Given the description of an element on the screen output the (x, y) to click on. 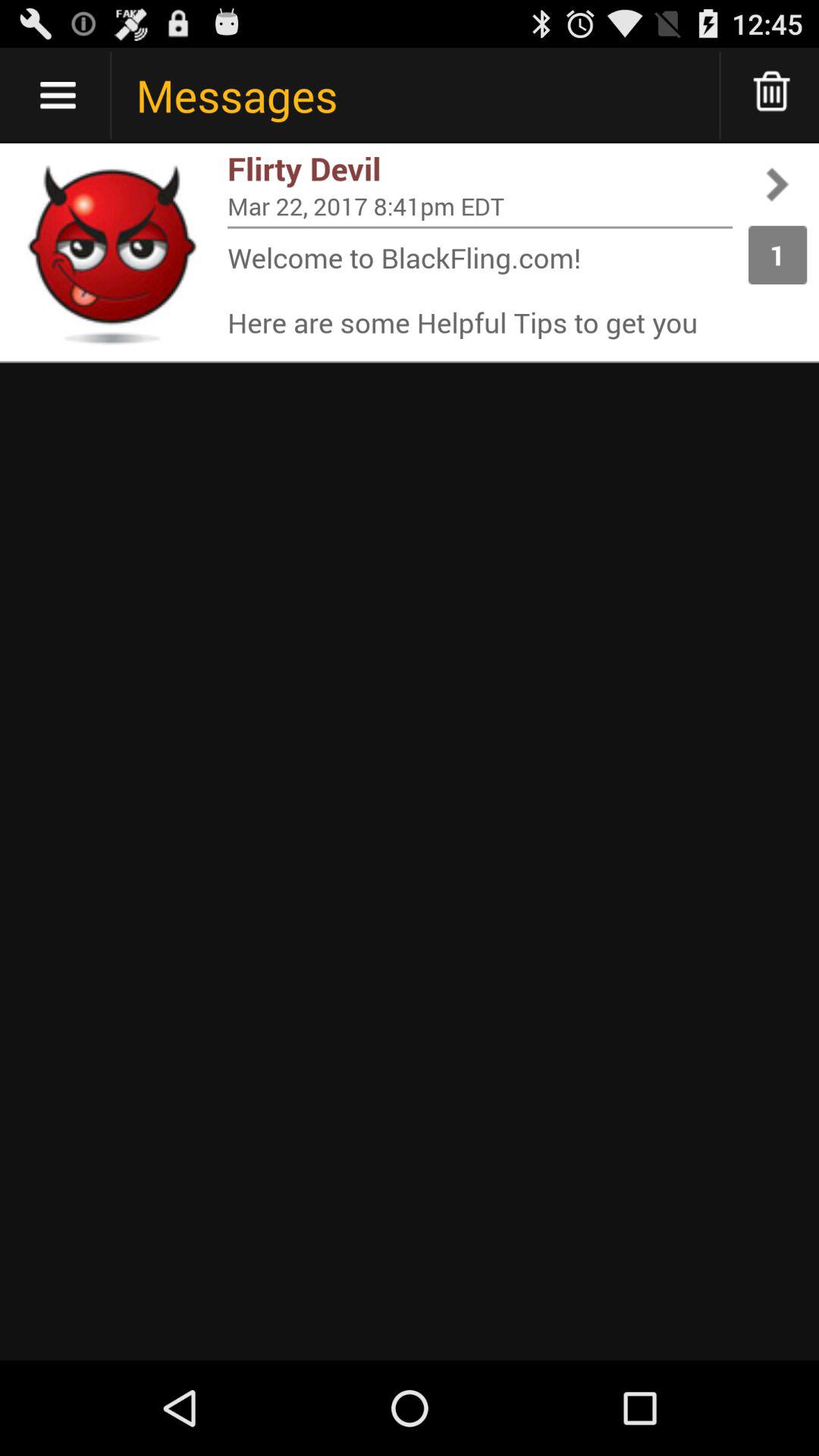
click the icon above the flirty devil item (772, 95)
